Given the description of an element on the screen output the (x, y) to click on. 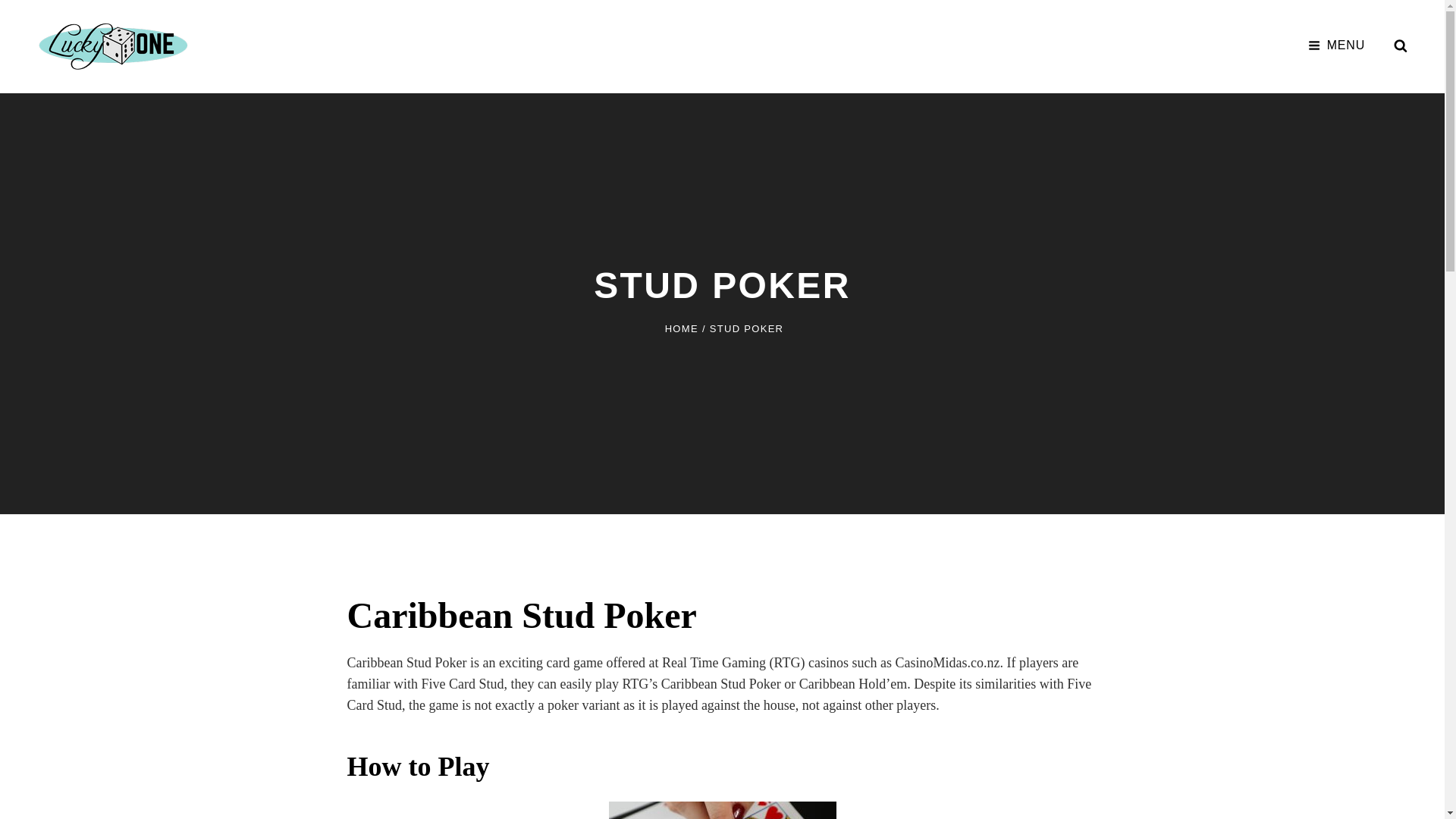
SEARCH (1400, 45)
HOME (681, 328)
MENU (1336, 45)
Lucky One (257, 34)
